Given the description of an element on the screen output the (x, y) to click on. 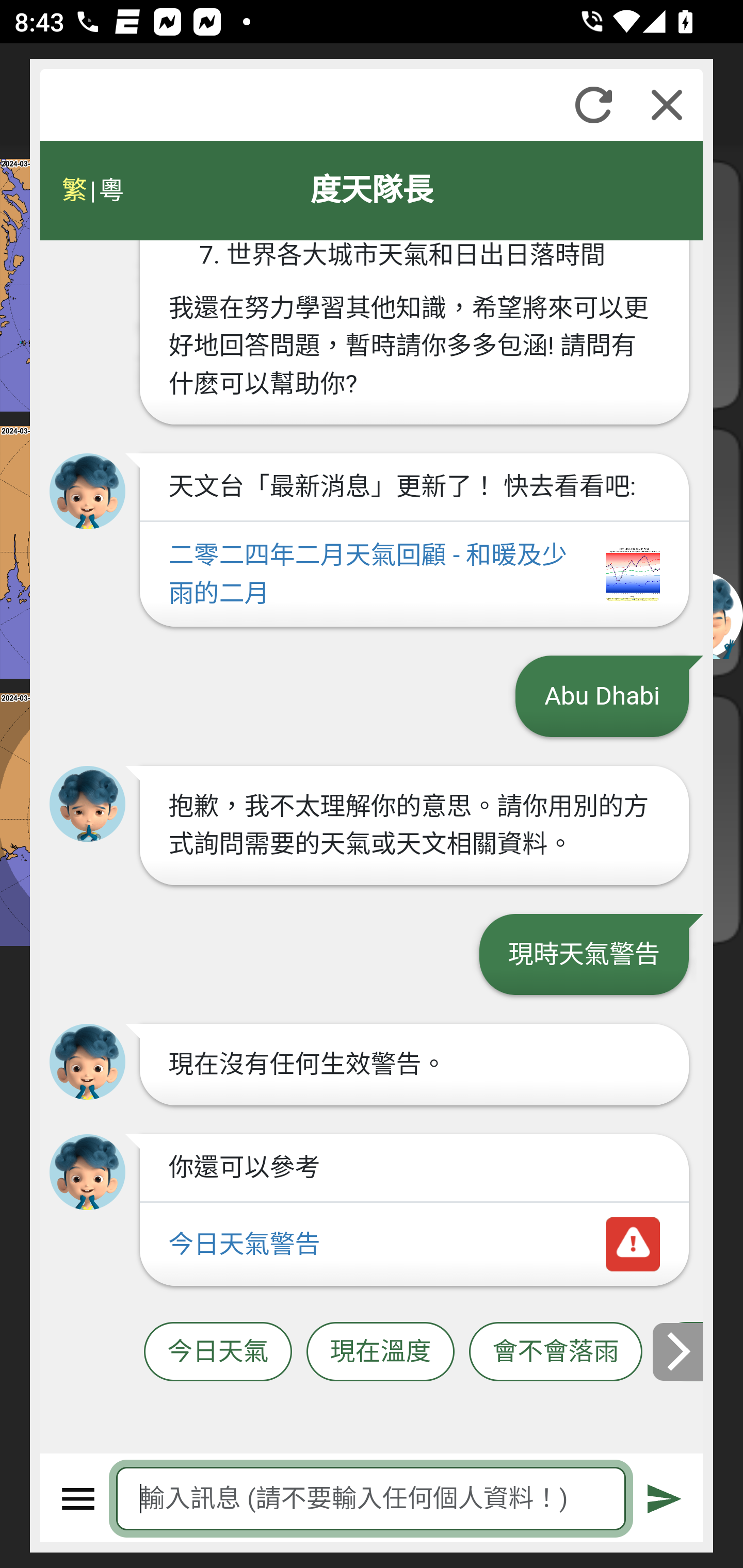
重新整理 (593, 104)
關閉 (666, 104)
繁 (73, 190)
粵 (110, 190)
二零二四年二月天氣回顧 - 和暖及少雨的二月 (413, 575)
今日天氣警告 (413, 1244)
今日天氣 (217, 1351)
現在溫度 (380, 1351)
會不會落雨 (555, 1351)
下一張 (678, 1351)
選單 (78, 1498)
遞交 (665, 1498)
